Given the description of an element on the screen output the (x, y) to click on. 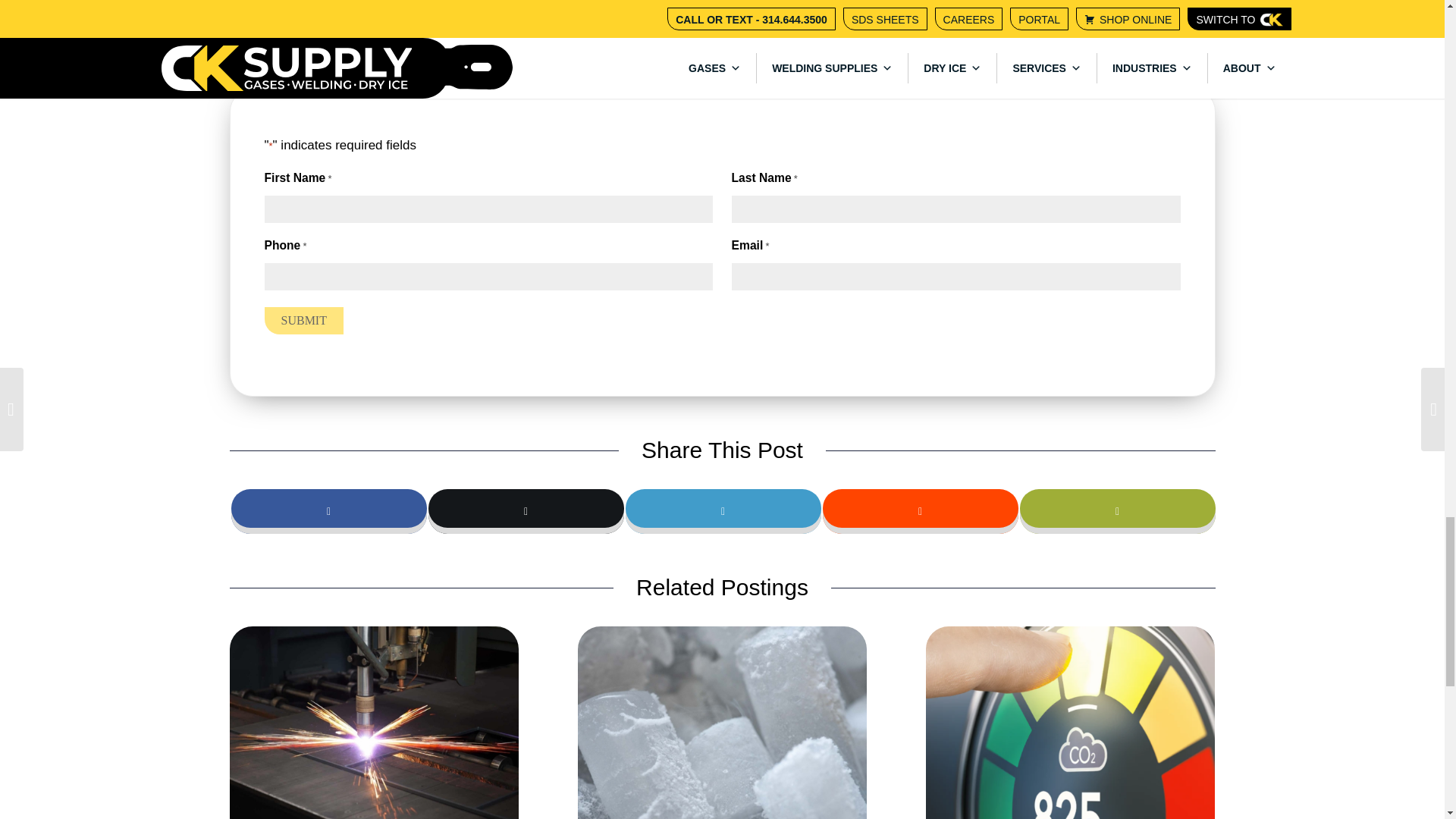
Submit (302, 320)
How to Extend the Life of Your Plasma Consumables (373, 722)
Dry Ice Uses You May Not Have Considered (722, 722)
What CO2 level is dangerous? (1070, 722)
